Given the description of an element on the screen output the (x, y) to click on. 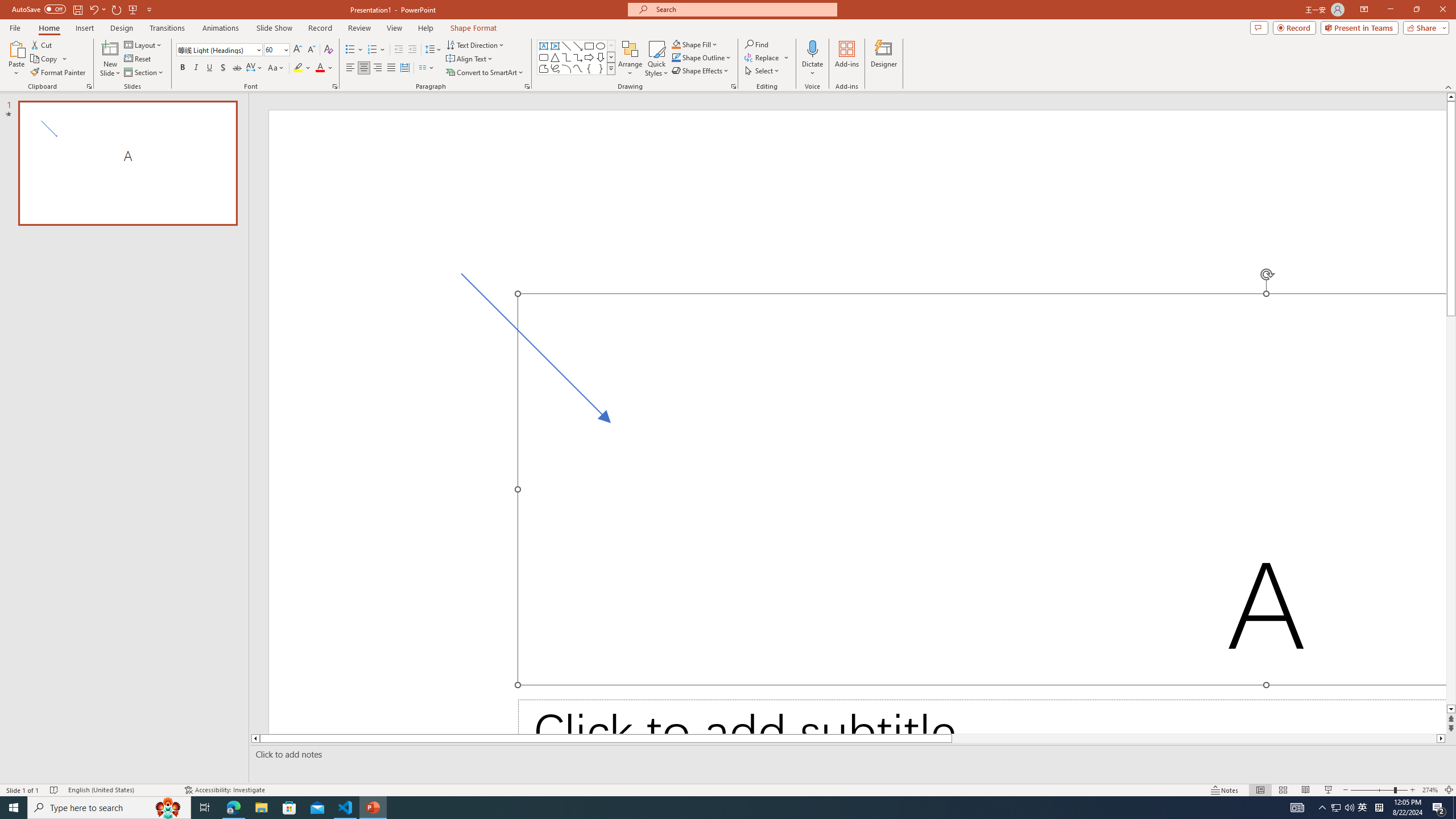
Title TextBox (981, 489)
